Given the description of an element on the screen output the (x, y) to click on. 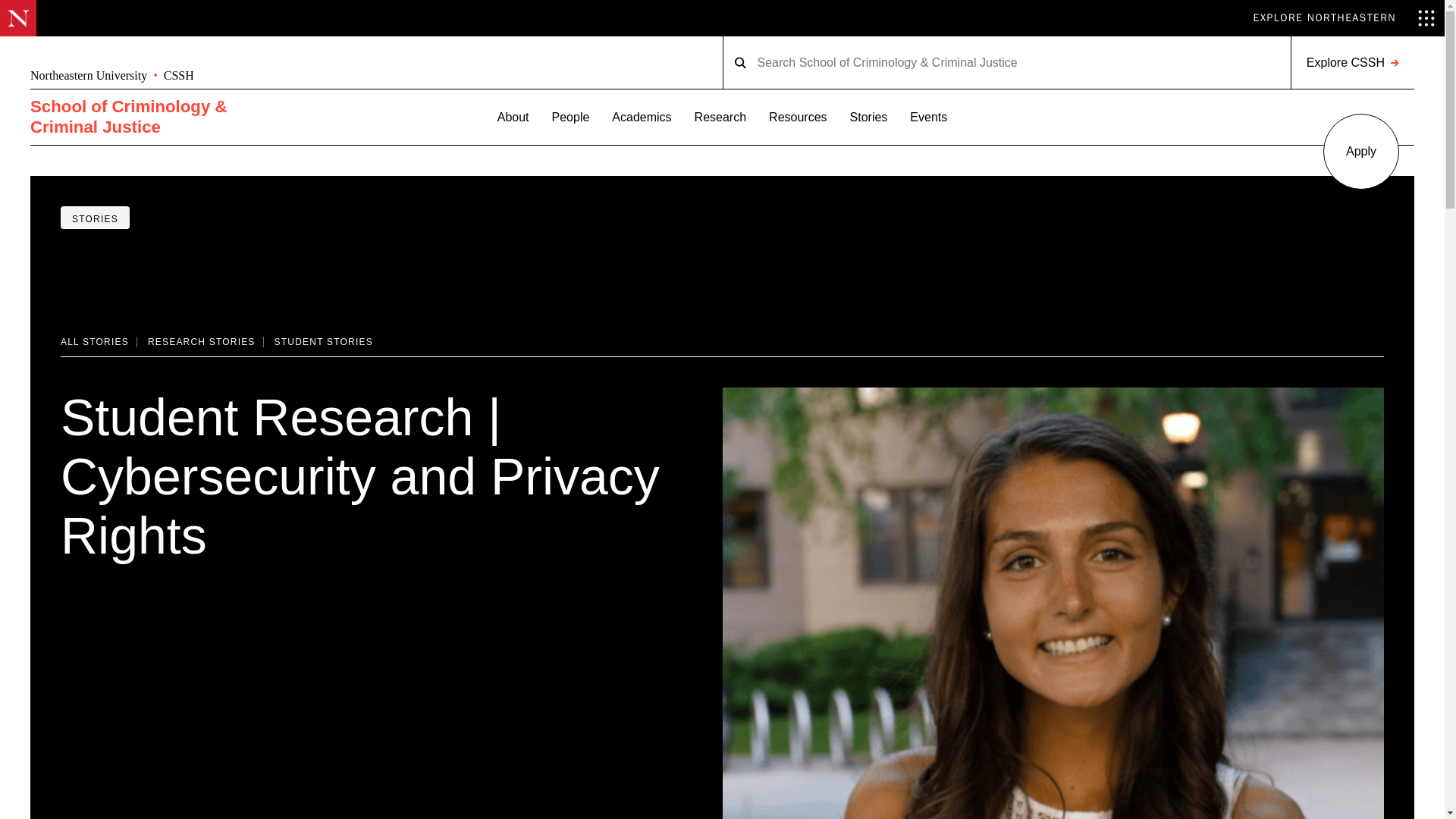
People (570, 116)
Research (719, 116)
Academics (640, 116)
Resources (797, 116)
CSSH (178, 75)
Northeastern University (1351, 62)
About (88, 75)
